Given the description of an element on the screen output the (x, y) to click on. 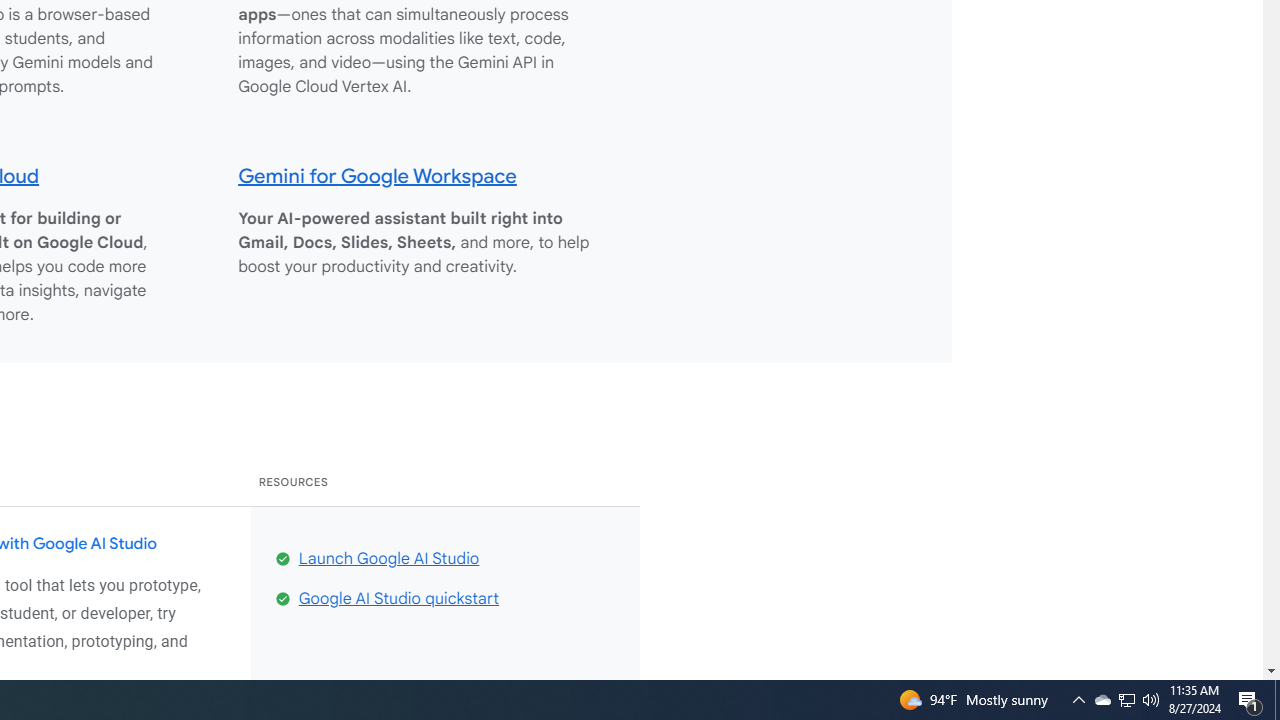
Google AI Studio quickstart (399, 598)
Gemini for Google Workspace (377, 175)
Launch Google AI Studio (389, 558)
